Given the description of an element on the screen output the (x, y) to click on. 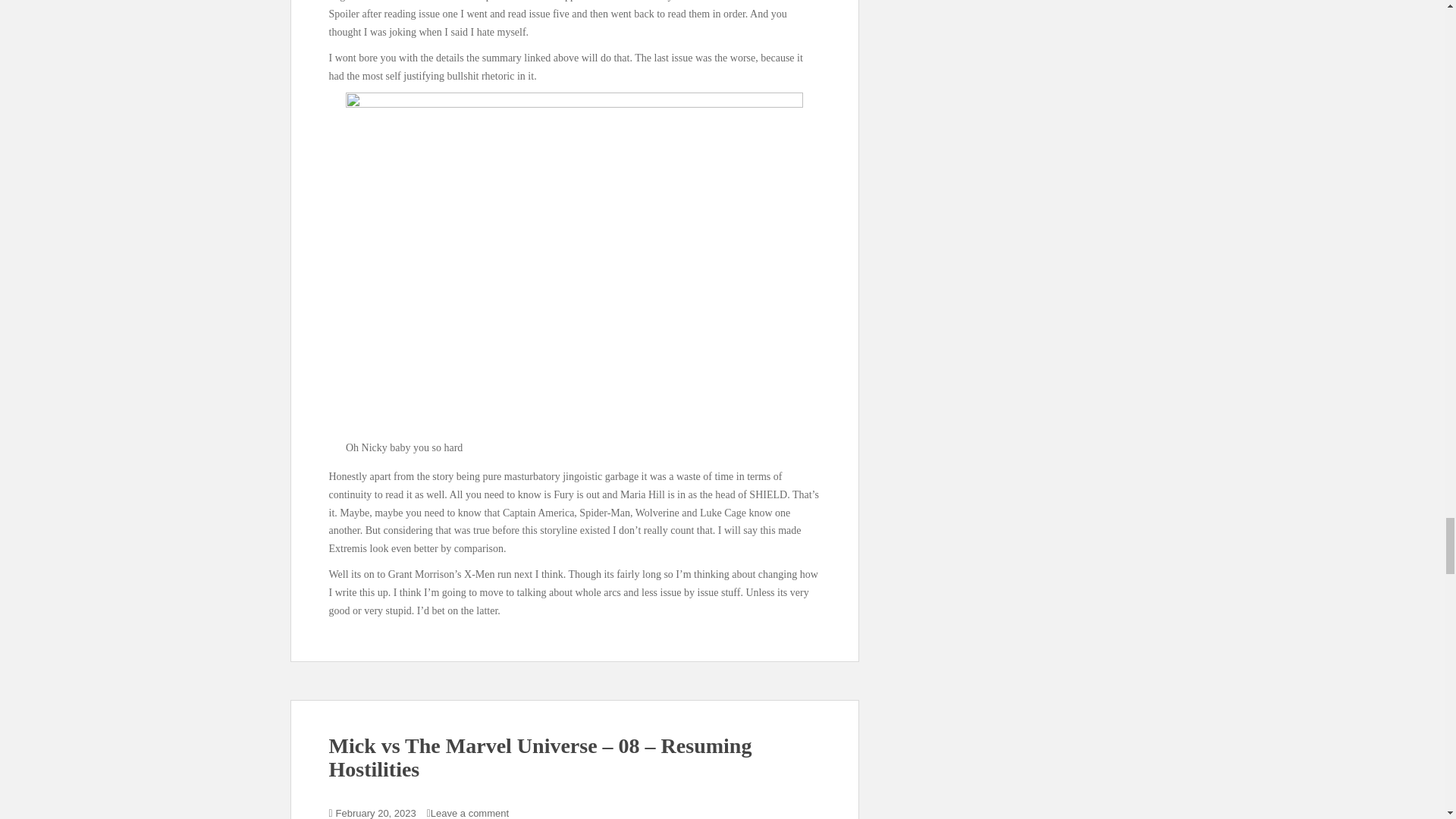
Leave a comment (469, 813)
February 20, 2023 (376, 813)
